Given the description of an element on the screen output the (x, y) to click on. 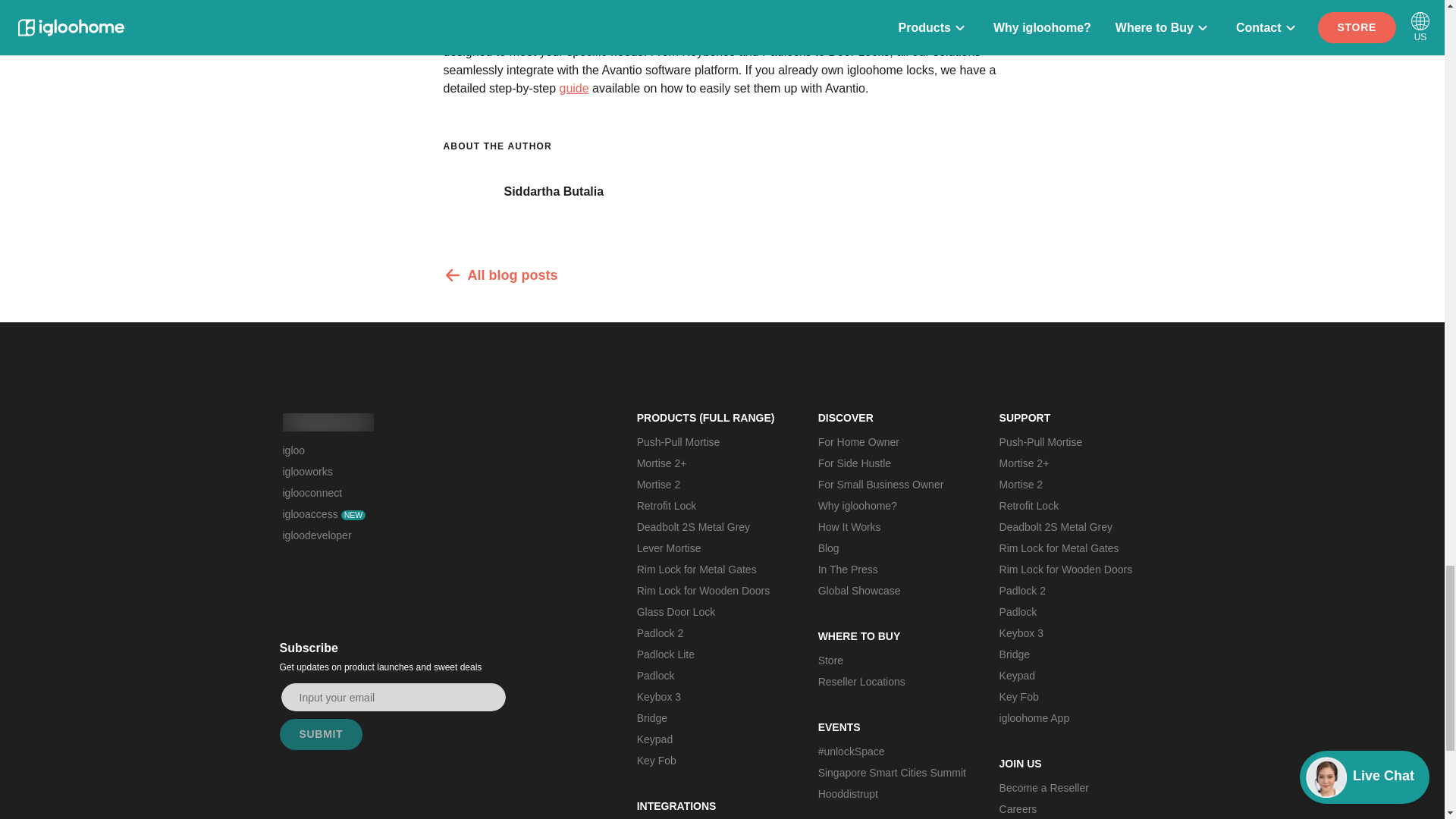
Padlock 2 (711, 632)
guide (573, 88)
products (973, 33)
igloohome (327, 422)
Mortise 2 (711, 484)
Lever Mortise (711, 547)
All blog posts (721, 274)
Bridge (711, 717)
Glass Door Lock (711, 611)
Keypad (711, 739)
